Given the description of an element on the screen output the (x, y) to click on. 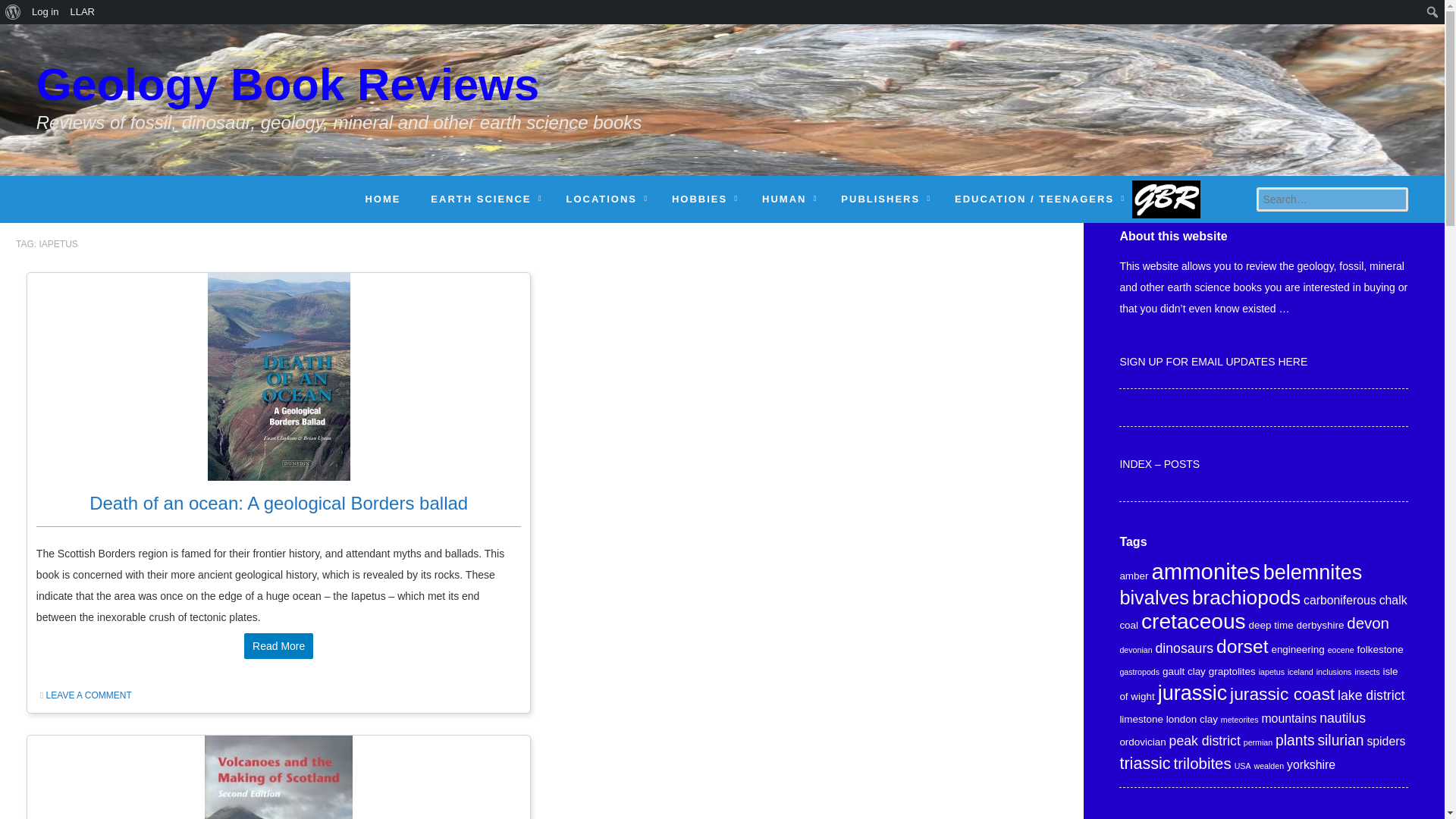
Permalink to Death of an ocean: A geological Borders ballad (277, 503)
Search (16, 12)
Geology Book Reviews (339, 95)
LLAR (82, 12)
Log in (45, 12)
